Given the description of an element on the screen output the (x, y) to click on. 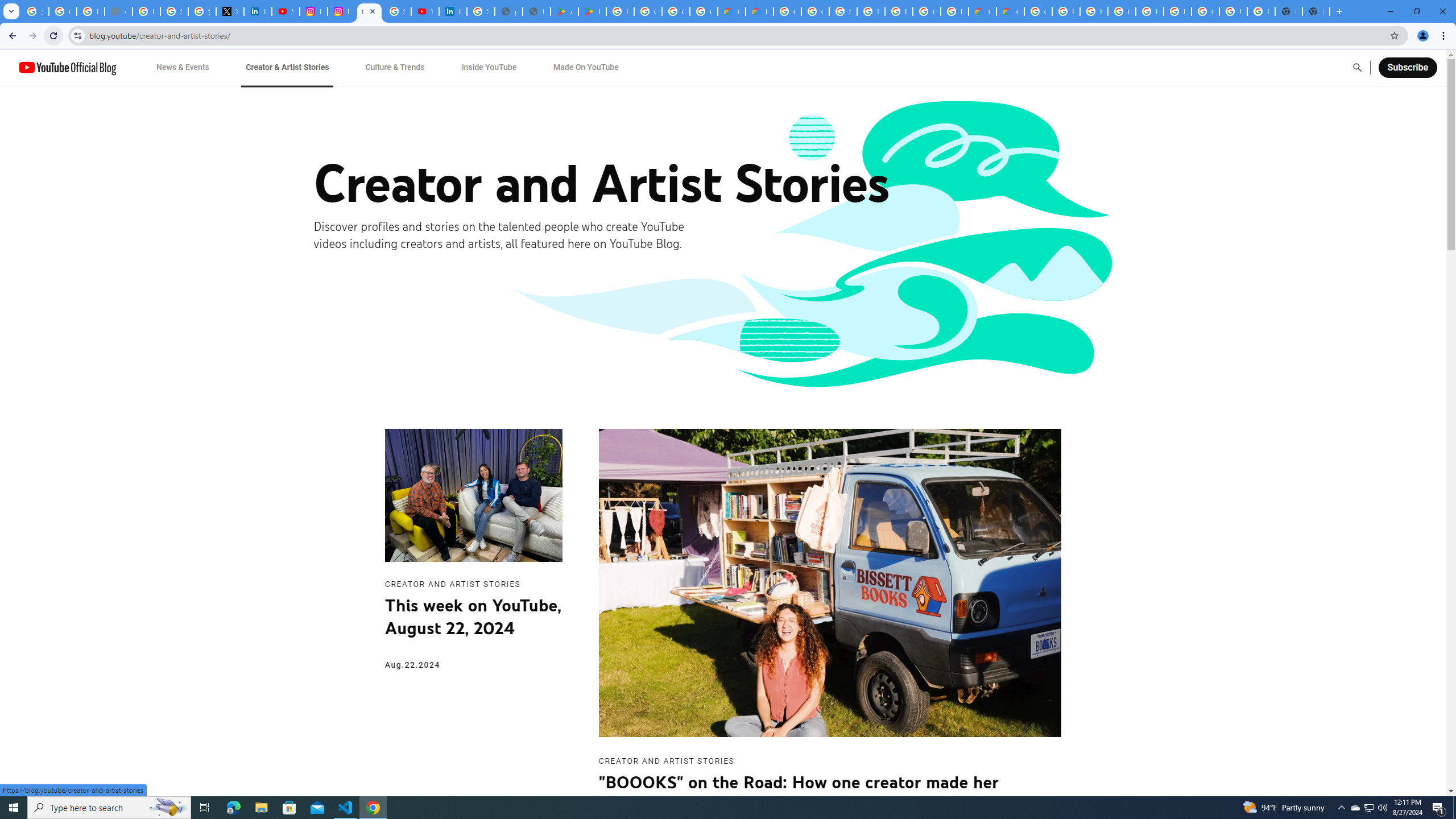
support.google.com - Network error (118, 11)
YouTube Content Monetization Policies - How YouTube Works (285, 11)
New Tab (1316, 11)
User Details (536, 11)
